Given the description of an element on the screen output the (x, y) to click on. 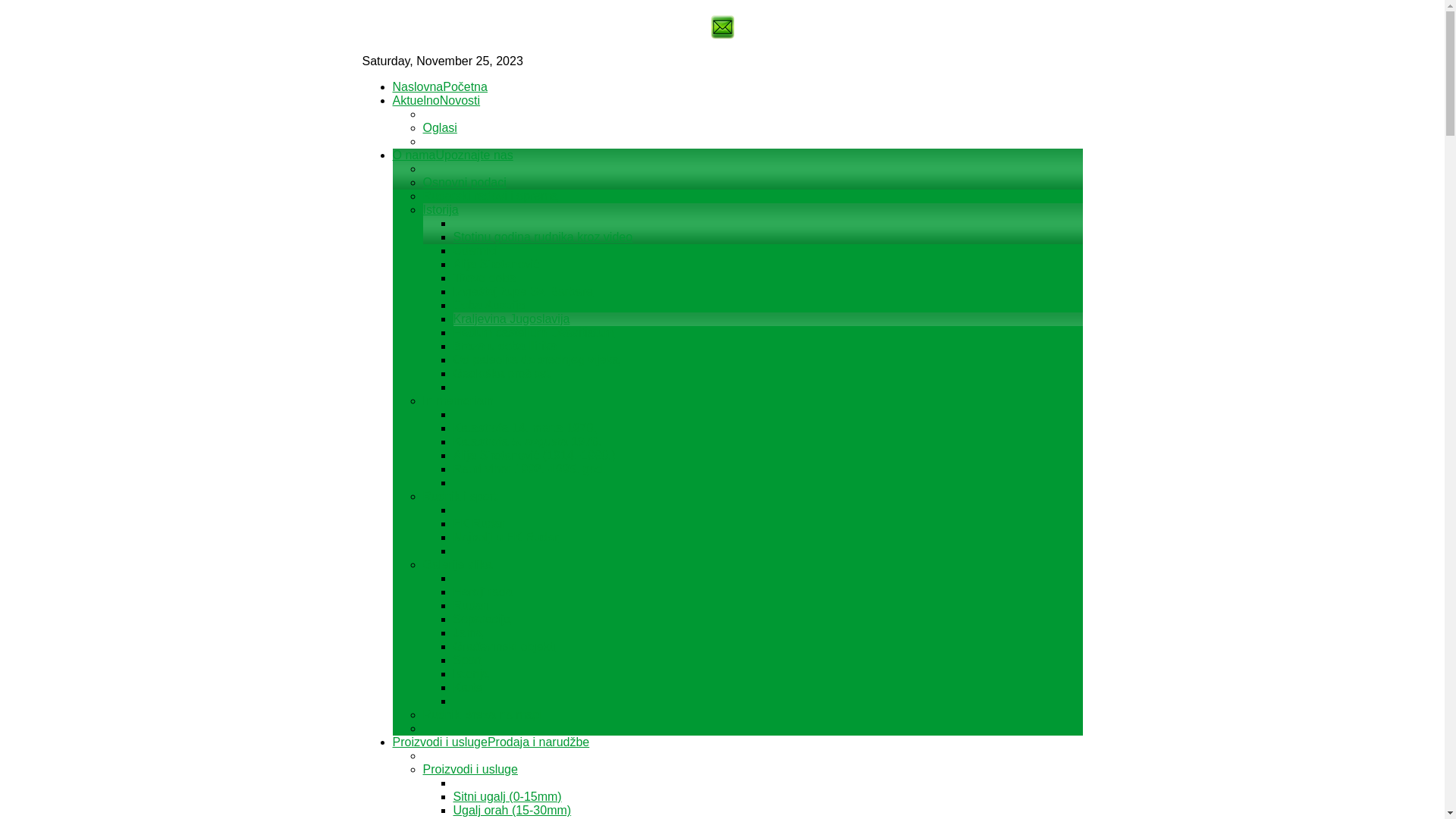
Ratni vihor 1992.-1995. god. Element type: text (529, 468)
Rudarski radovi i oprema Element type: text (490, 195)
Titovo doba Element type: text (484, 277)
Galerije slika Element type: text (457, 564)
Breza u doba Ilirika Element type: text (505, 345)
Hedum castellum Deasitiatum Element type: text (534, 332)
Istorija Element type: text (471, 673)
Istorija Element type: text (440, 209)
Jama Element type: text (468, 632)
O namaUpoznajte nas Element type: text (452, 154)
Ugalj orah (15-30mm) Element type: text (512, 809)
Rudari Element type: text (471, 605)
Karte Element type: text (467, 686)
Najbolji u FK Rudar Element type: text (505, 536)
Heroji rada Element type: text (482, 591)
Oglasi Element type: text (440, 127)
Udarnici Element type: text (475, 250)
Doba Austrije Element type: text (489, 304)
Rudnik i sport Element type: text (460, 495)
Sport Element type: text (467, 659)
Od paleolita do srednjeg vijeka Element type: text (536, 359)
Stotinu godina rudnika kroz video Element type: text (543, 236)
Osnovni podaci Element type: text (464, 181)
Katastrofa 5. avgusta 1976. Element type: text (527, 441)
In memoriam Element type: text (458, 400)
Proizvodi i usluge Element type: text (470, 768)
FK Rudar Element type: text (479, 523)
Kraljevina Jugoslavija Element type: text (511, 318)
Sitni ugalj (0-15mm) Element type: text (507, 796)
Separacija Element type: text (482, 618)
Rudnik Breza na mapi Element type: text (482, 714)
AktuelnoNovosti Element type: text (436, 100)
Katastrofa 14. marta 1970. Element type: text (524, 427)
